Given the description of an element on the screen output the (x, y) to click on. 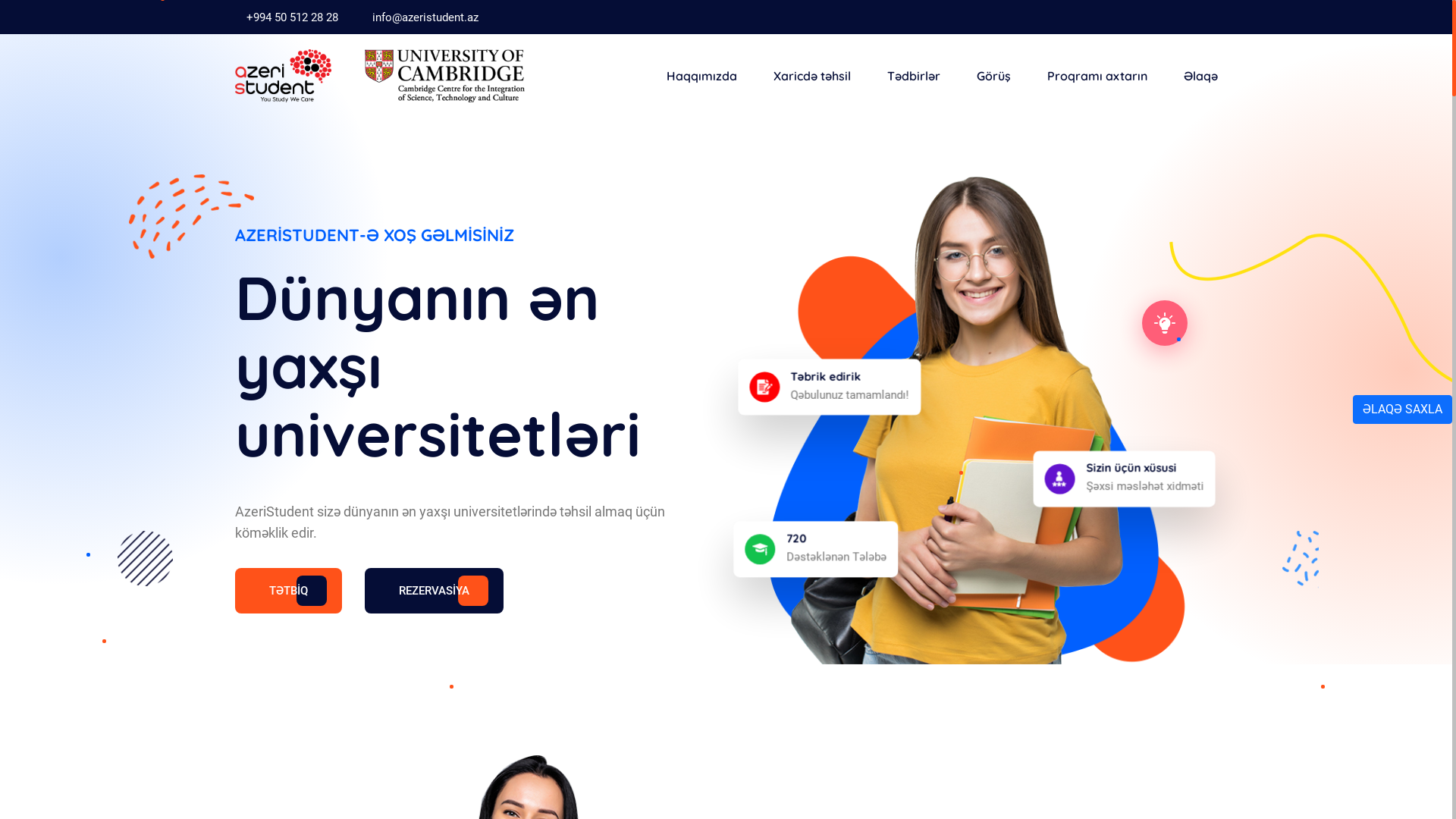
info@azeristudent.az Element type: text (424, 16)
+994 50 512 28 28 Element type: text (291, 16)
Study Abroad - AzeriStudent Element type: hover (283, 75)
REZERVASIYA Element type: text (433, 590)
